Given the description of an element on the screen output the (x, y) to click on. 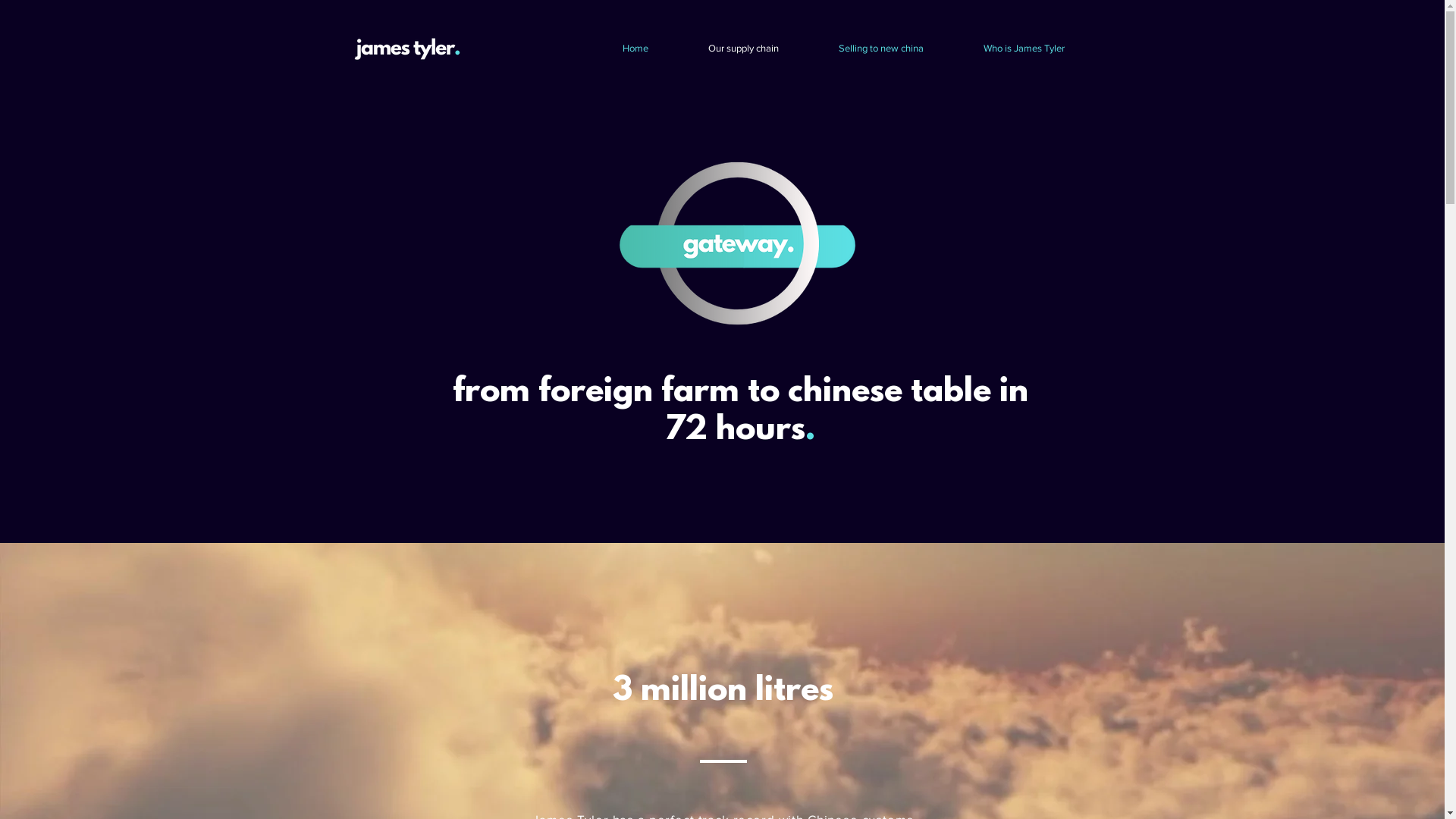
Our supply chain Element type: text (742, 48)
Home Element type: text (635, 48)
Selling to new china Element type: text (880, 48)
Who is James Tyler Element type: text (1023, 48)
